Given the description of an element on the screen output the (x, y) to click on. 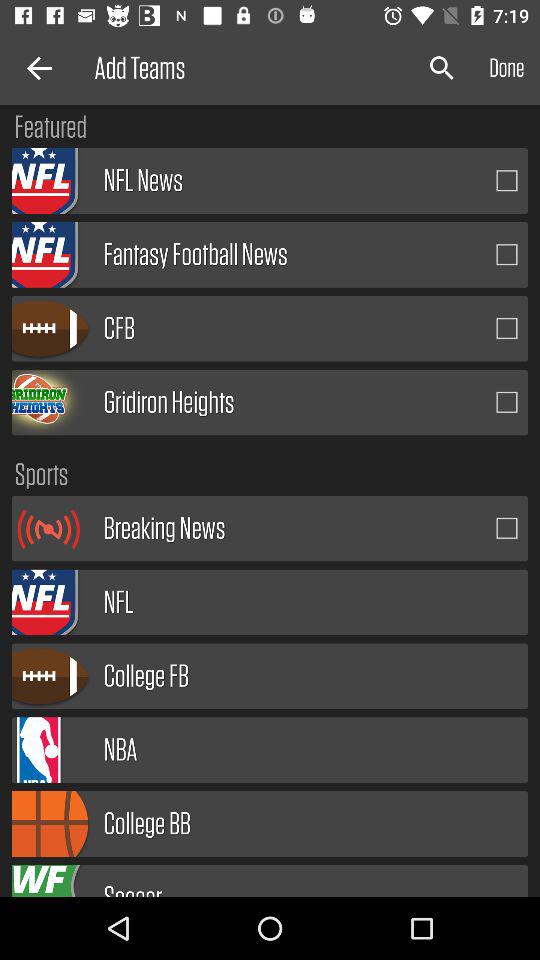
tap icon to the left of the done item (441, 67)
